Given the description of an element on the screen output the (x, y) to click on. 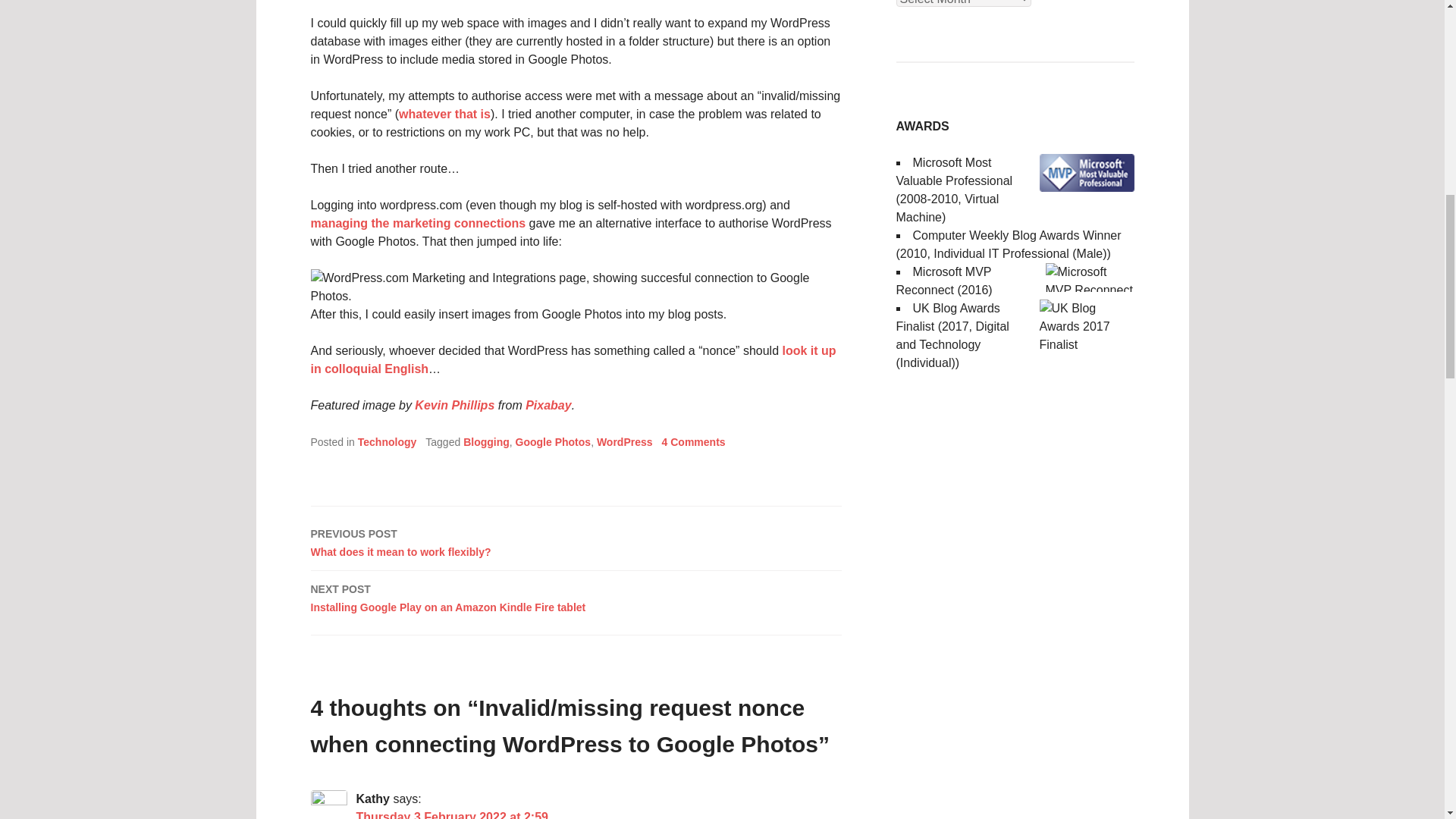
Technology (387, 441)
Kevin Phillips (454, 404)
Pixabay (547, 404)
4 Comments (693, 441)
managing the marketing connections (418, 223)
Thursday 3 February 2022 at 2:59 (452, 814)
Blogging (486, 441)
whatever that is (576, 540)
